Given the description of an element on the screen output the (x, y) to click on. 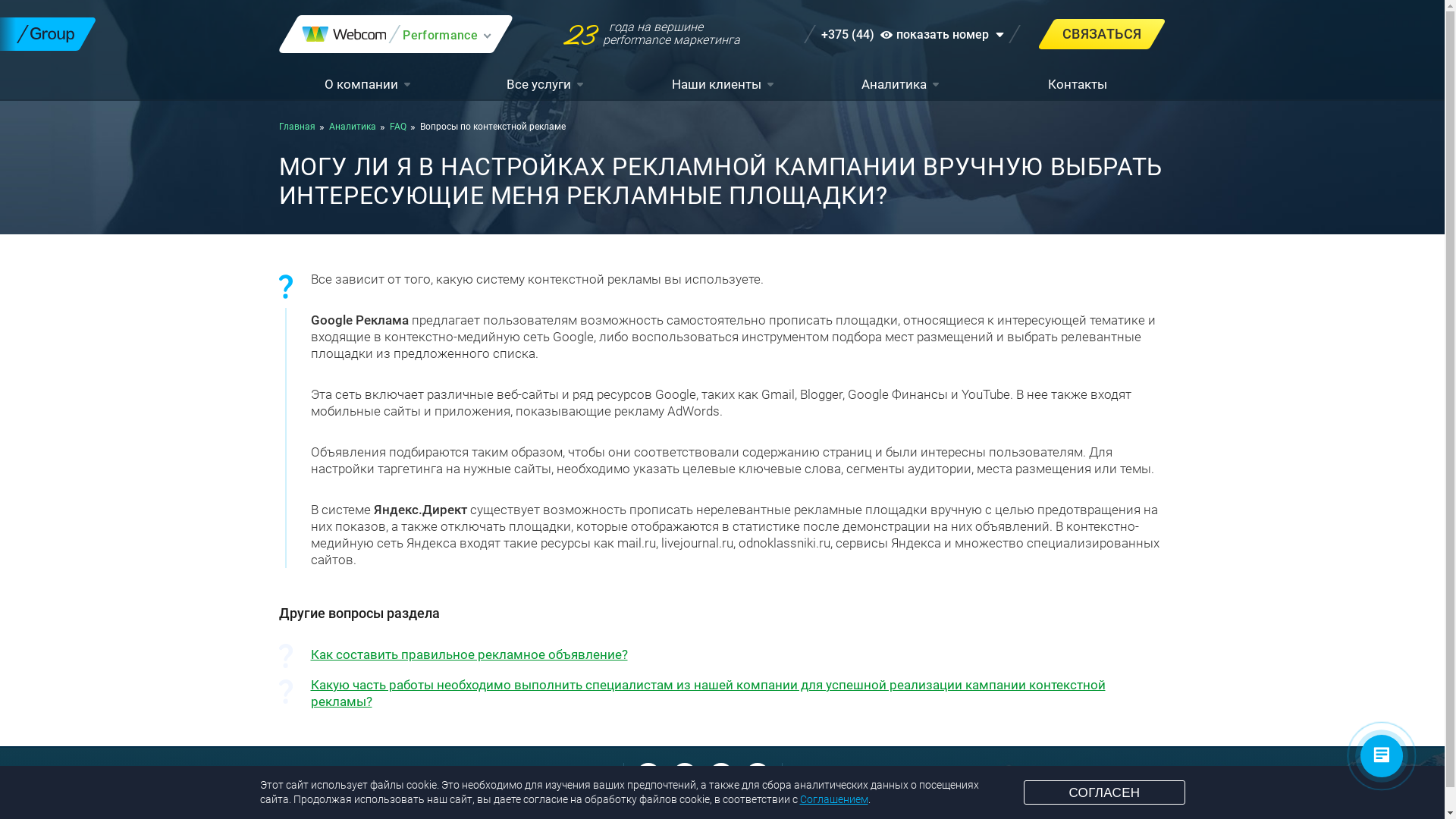
FAQ Element type: text (397, 126)
info@promo-webcom.by Element type: text (345, 774)
